Given the description of an element on the screen output the (x, y) to click on. 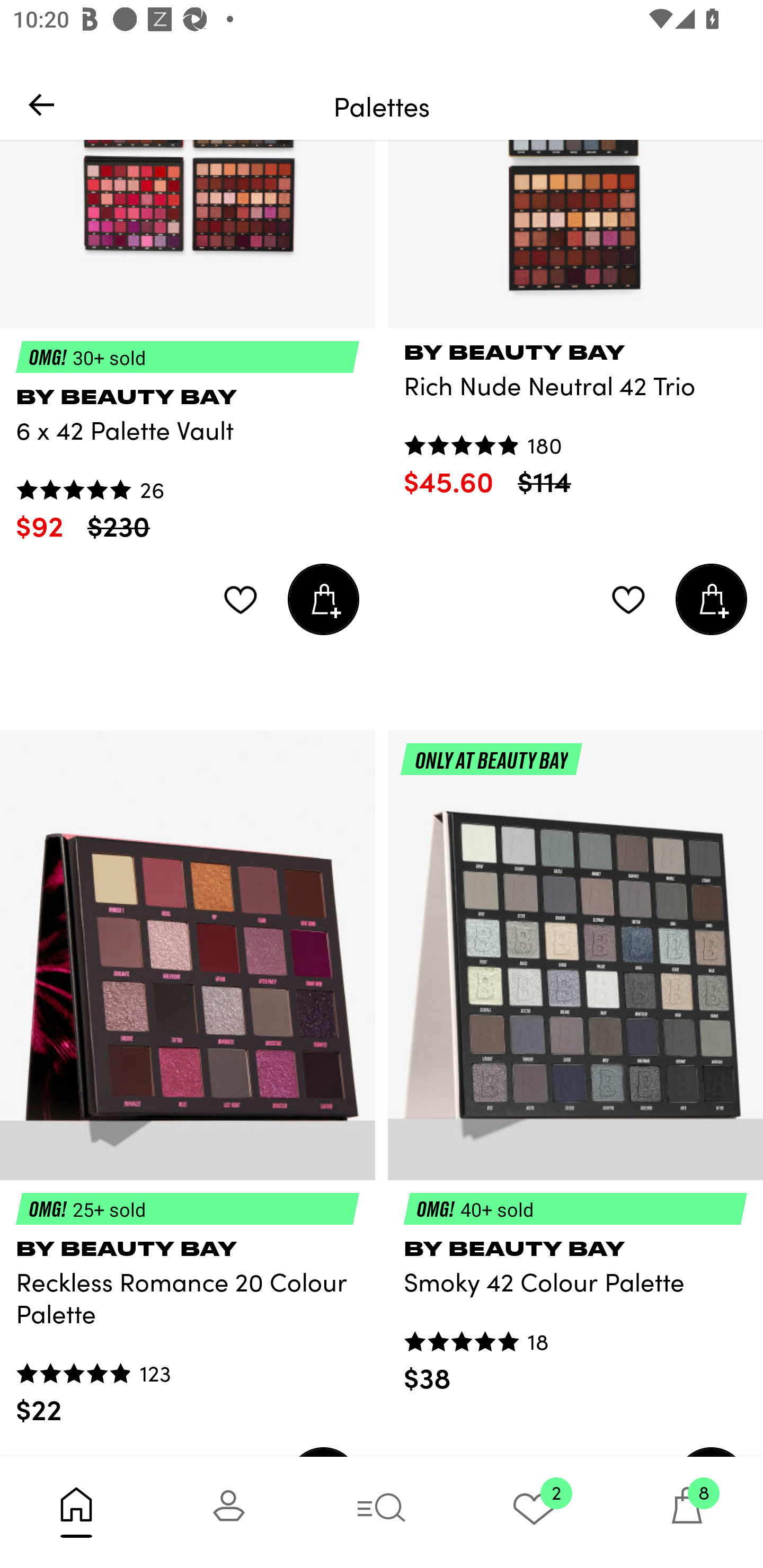
2 (533, 1512)
8 (686, 1512)
